Given the description of an element on the screen output the (x, y) to click on. 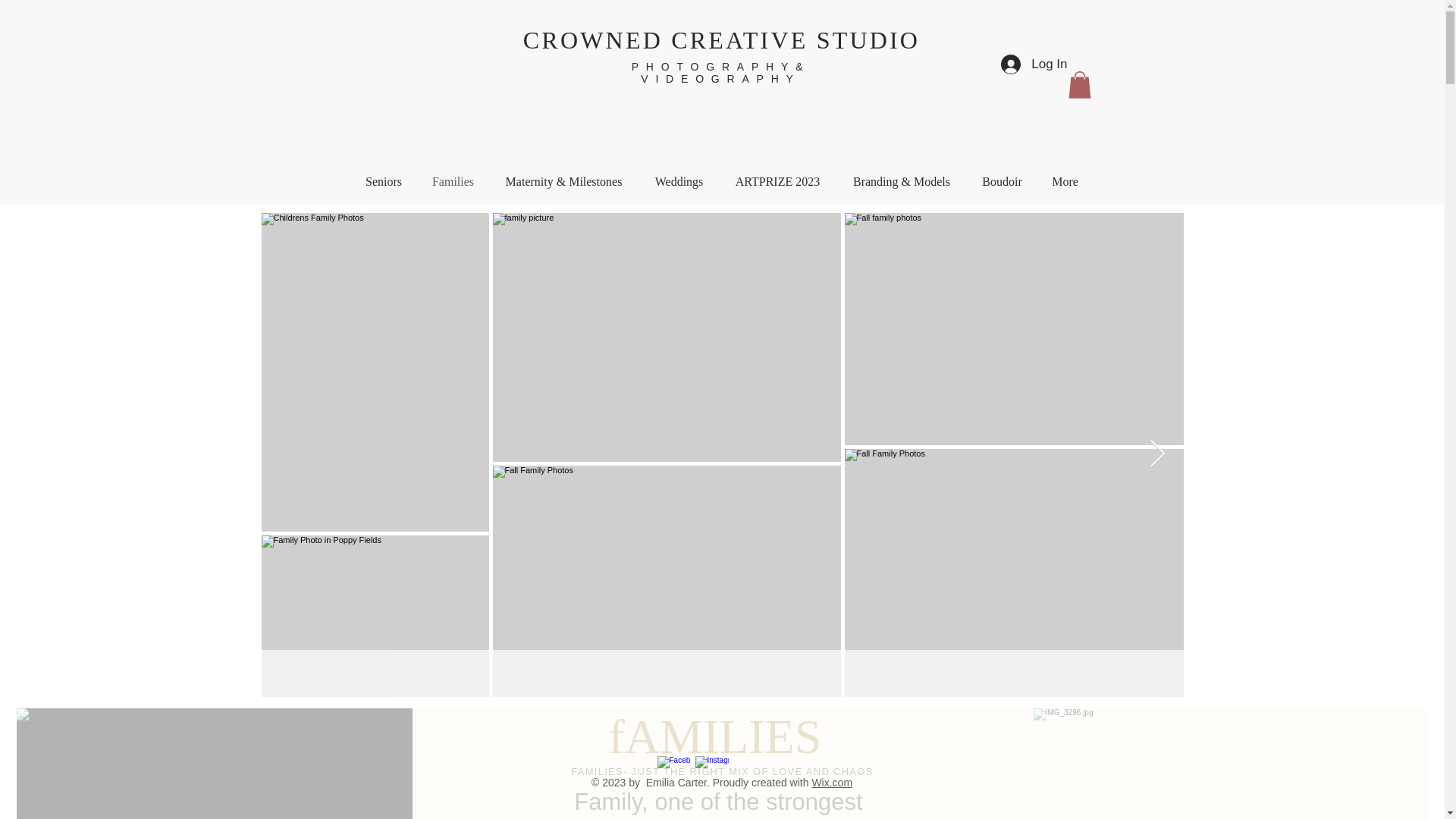
ARTPRIZE 2023 (777, 182)
Wix.com (830, 782)
Families (451, 182)
Weddings (679, 182)
Seniors (383, 182)
CROWNED CREATIVE STUDIO (721, 40)
Boudoir (1002, 182)
VIDEOGRAPHY (720, 78)
Log In (1033, 63)
